Given the description of an element on the screen output the (x, y) to click on. 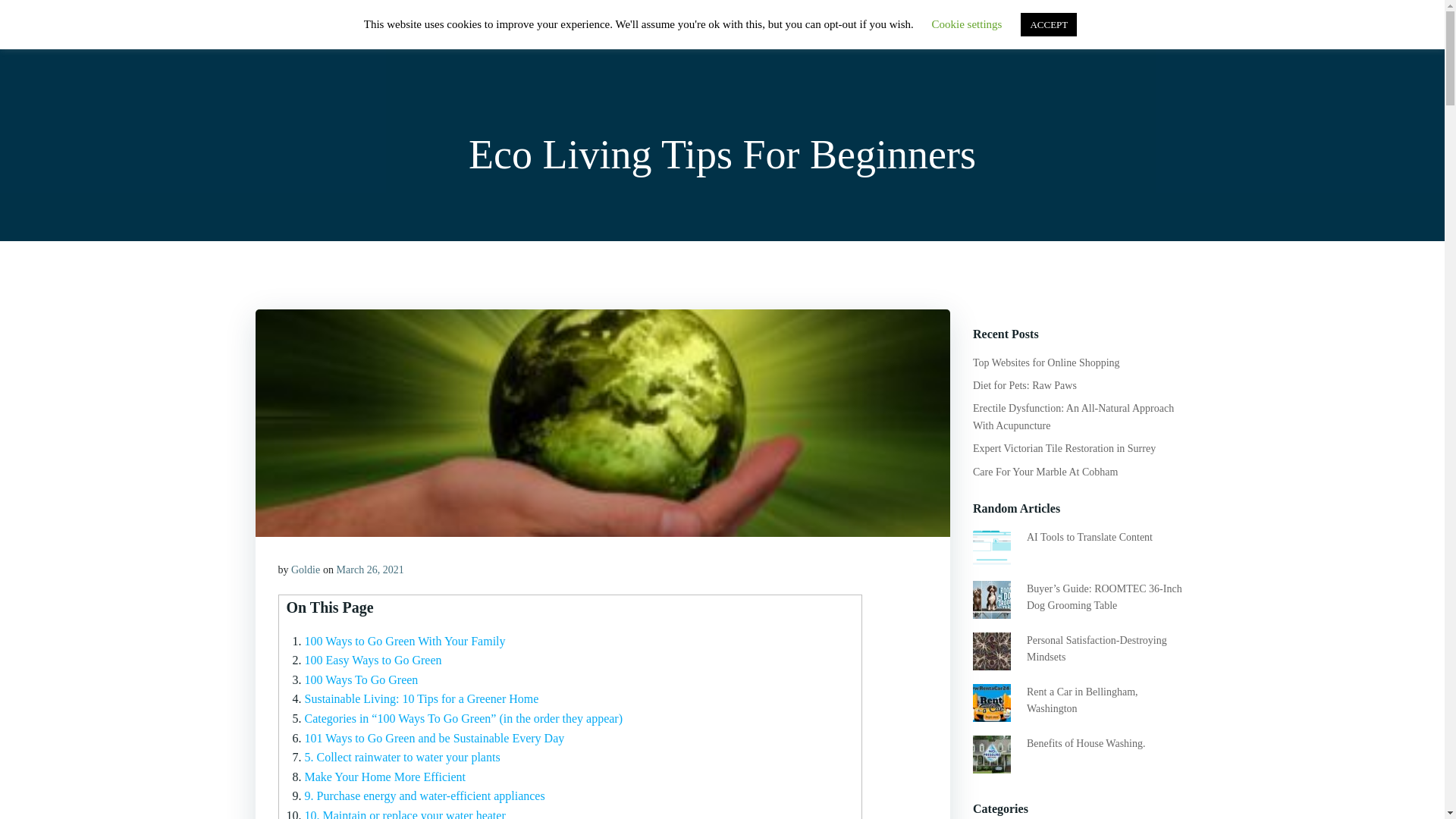
LEGAL (1155, 33)
HOME (879, 33)
Goldie (305, 569)
101 Ways to Go Green and be Sustainable Every Day (434, 738)
SHOP (942, 33)
LOGIN (1088, 33)
10. Maintain or replace your water heater (404, 814)
ARTICLES (1014, 33)
Sustainable Living: 10 Tips for a Greener Home (421, 698)
Sno Pug (284, 33)
5. Collect rainwater to water your plants (402, 757)
9. Purchase energy and water-efficient appliances (424, 795)
Make Your Home More Efficient (384, 776)
Top Websites for Online Shopping (1045, 362)
100 Ways To Go Green (361, 679)
